Given the description of an element on the screen output the (x, y) to click on. 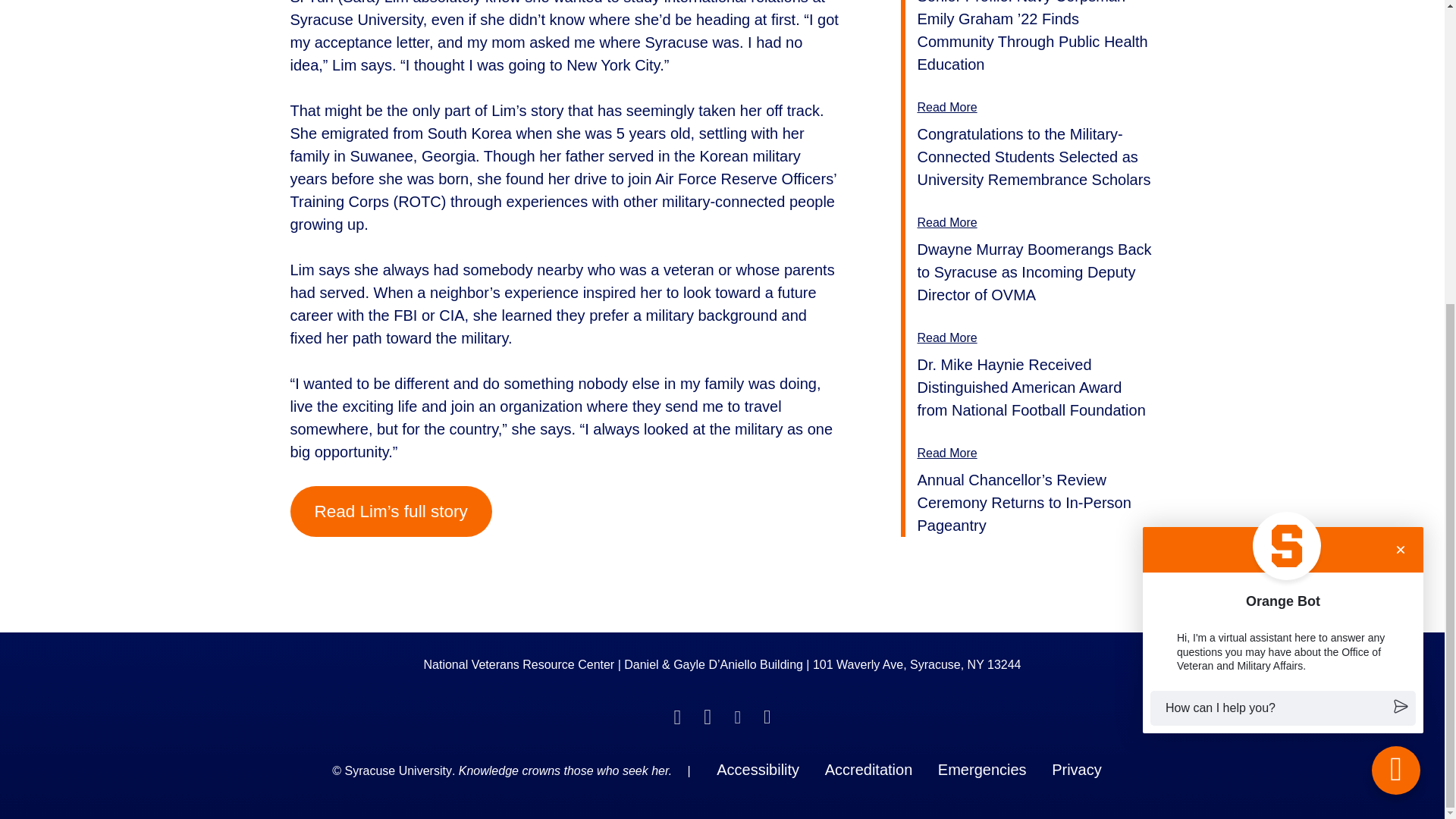
Facebook URL (676, 712)
YouTube URL (738, 712)
Instagram URL (767, 712)
Twitter URL (707, 712)
